Given the description of an element on the screen output the (x, y) to click on. 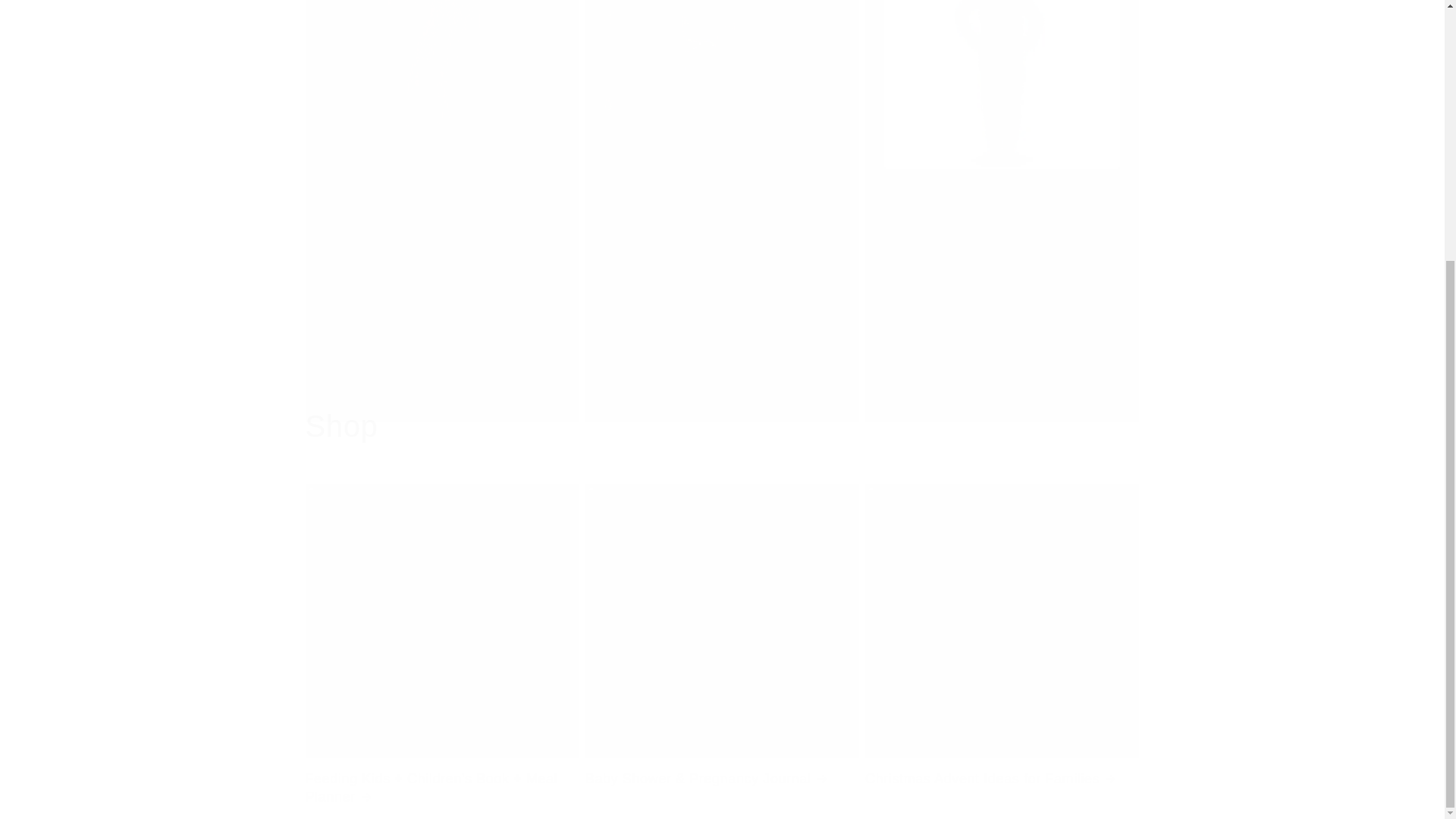
Kid Nutrition Blog  (665, 326)
Baby Shower Blog  (388, 369)
Shop (340, 425)
